Given the description of an element on the screen output the (x, y) to click on. 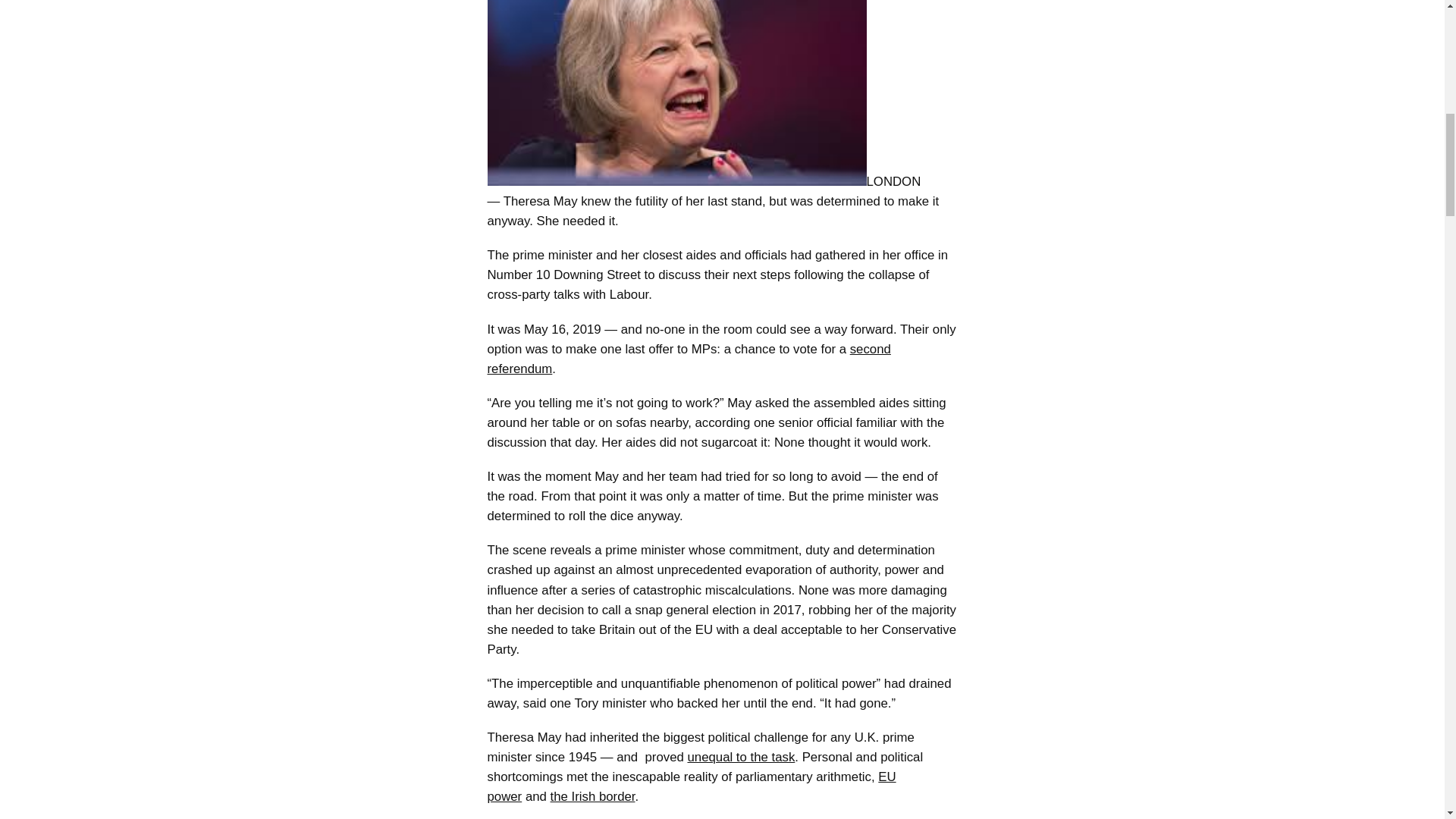
EU power (690, 786)
second referendum (687, 358)
the Irish border (592, 796)
unequal to the task (740, 757)
